Given the description of an element on the screen output the (x, y) to click on. 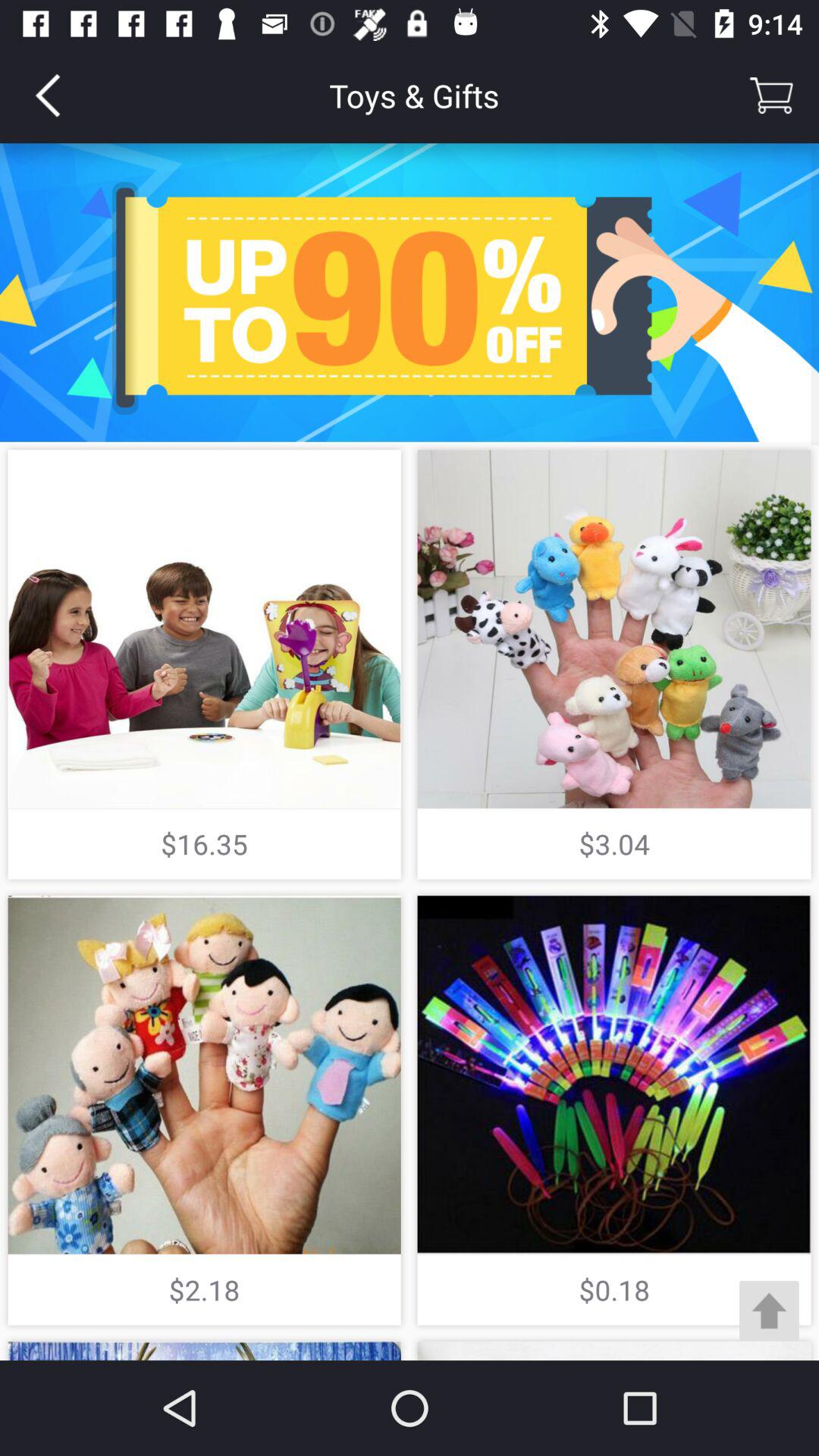
go back (47, 95)
